Given the description of an element on the screen output the (x, y) to click on. 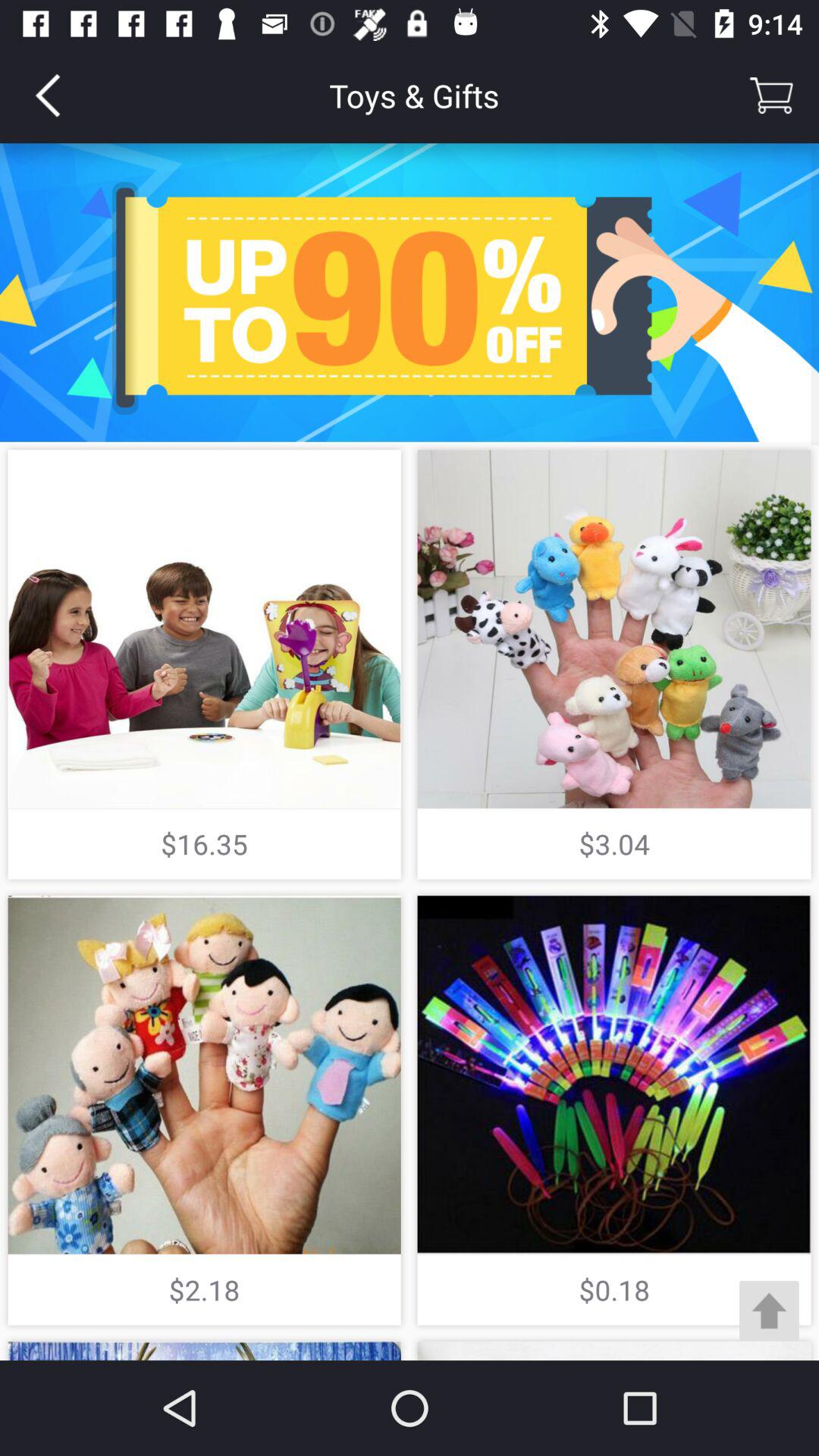
go back (47, 95)
